Given the description of an element on the screen output the (x, y) to click on. 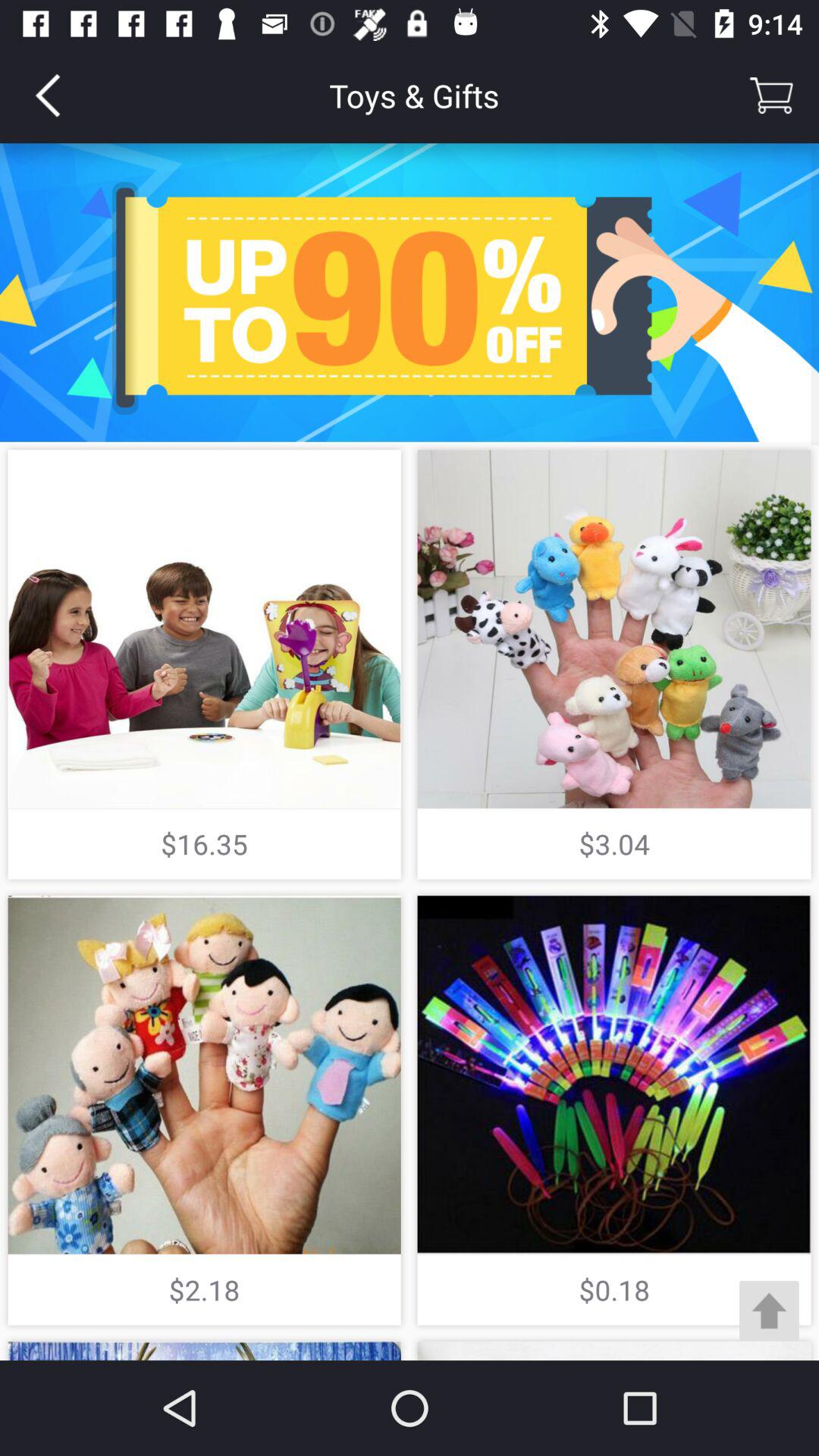
go back (47, 95)
